Given the description of an element on the screen output the (x, y) to click on. 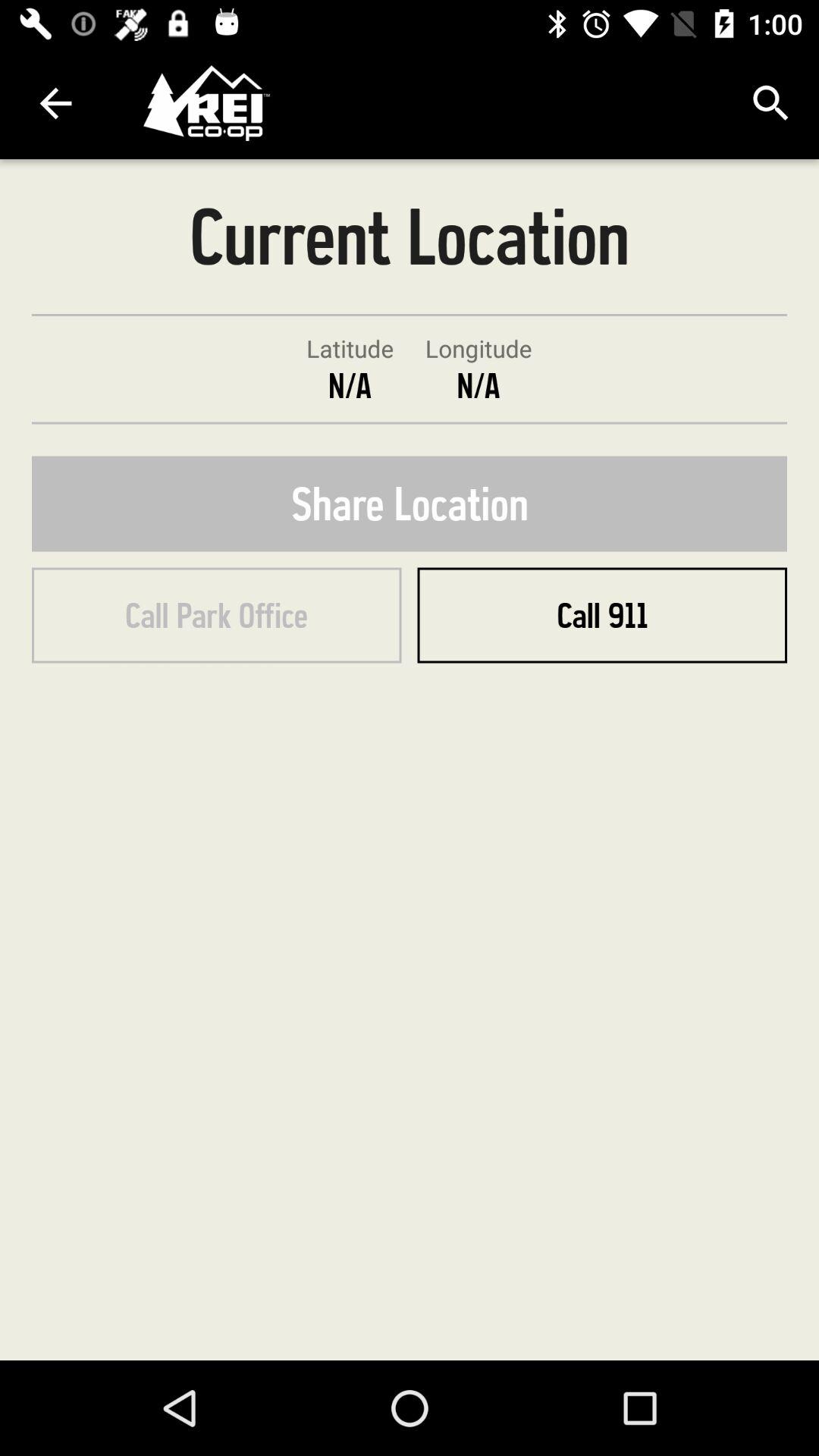
launch icon to the left of call 911 item (216, 615)
